Given the description of an element on the screen output the (x, y) to click on. 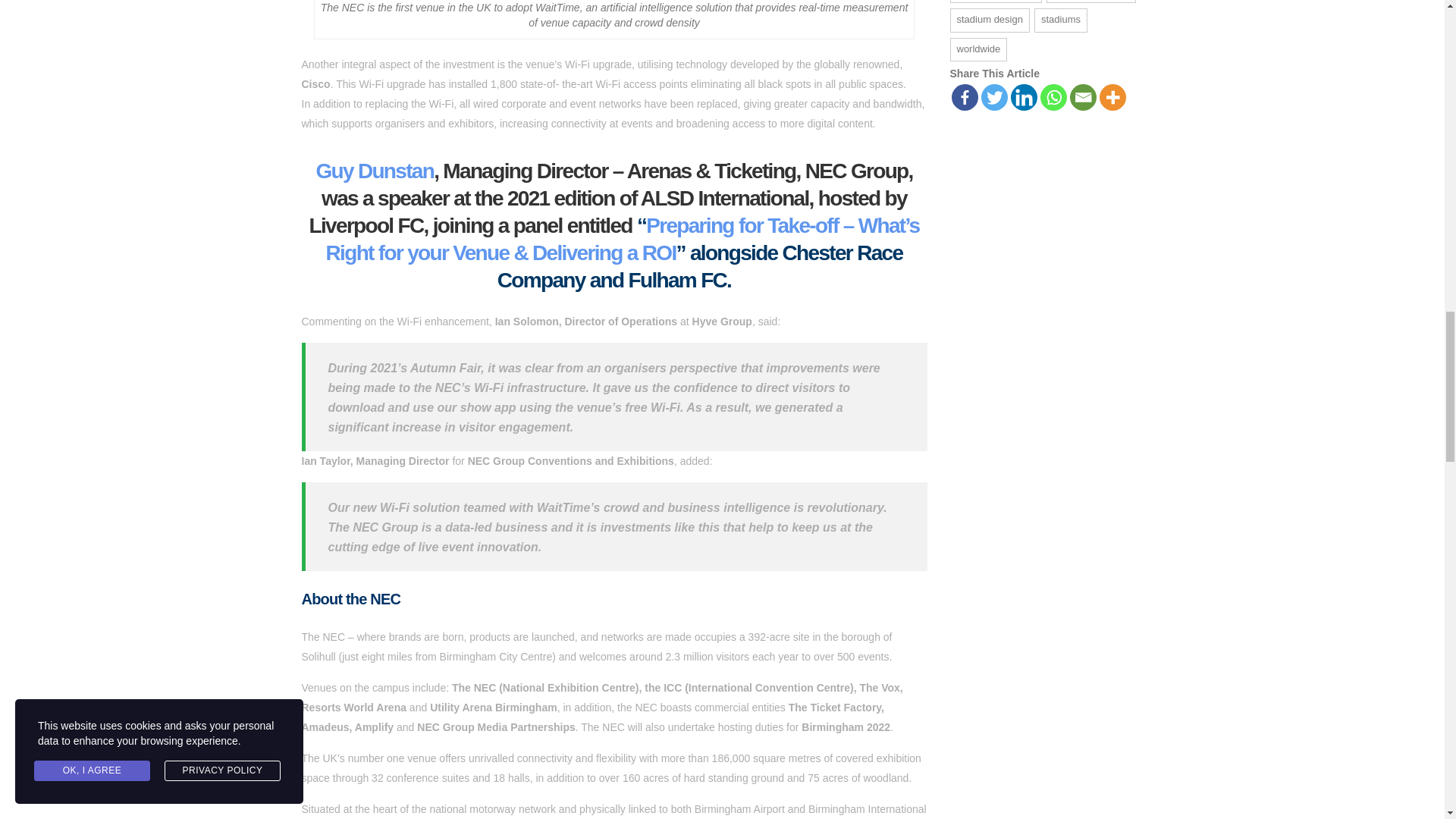
Linkedin (1023, 97)
Page 1 (614, 47)
Facebook (963, 97)
Twitter (994, 97)
